Given the description of an element on the screen output the (x, y) to click on. 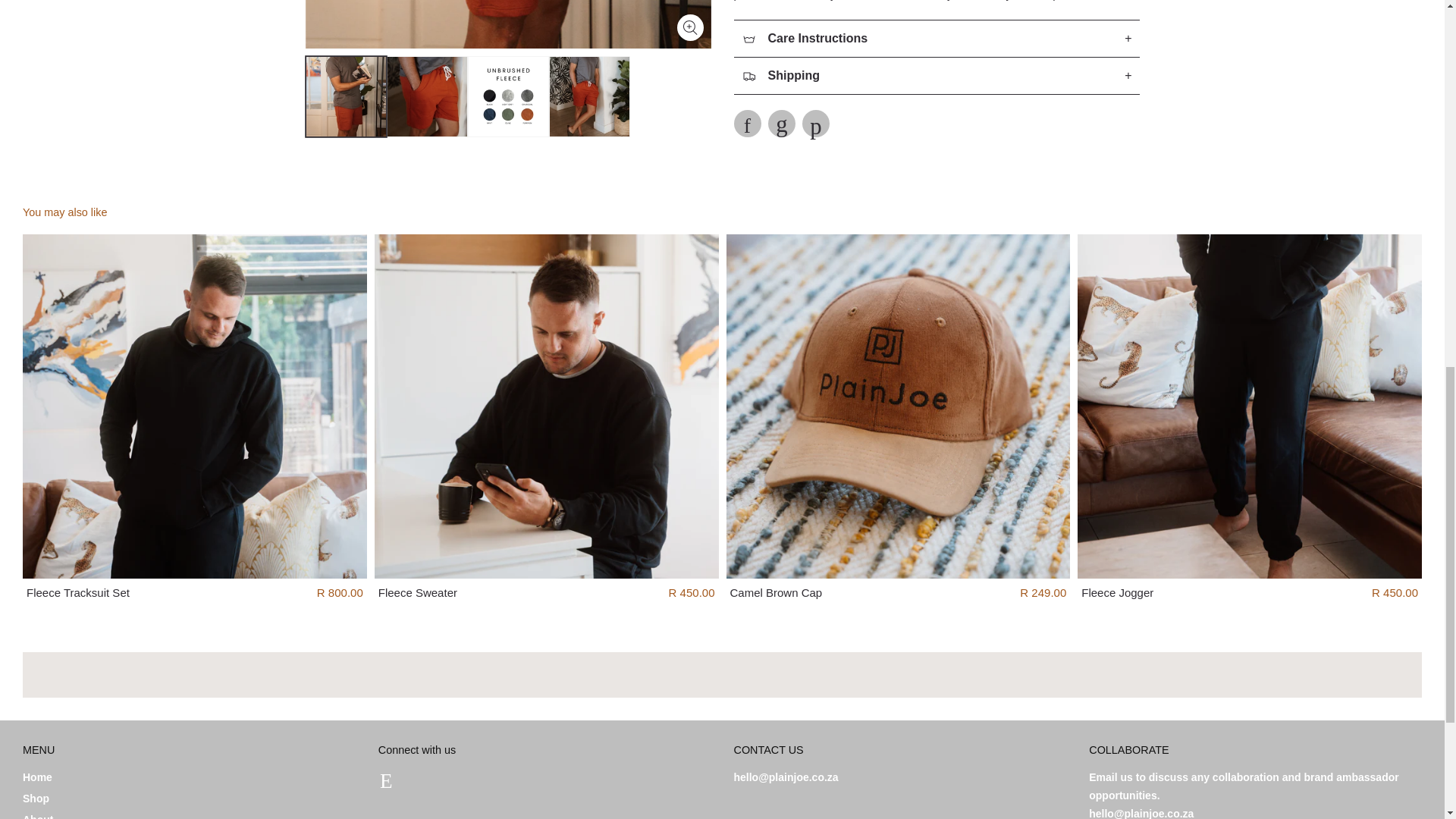
Share on X (781, 123)
Share on Pinterest (815, 123)
Share on Facebook (747, 123)
